Given the description of an element on the screen output the (x, y) to click on. 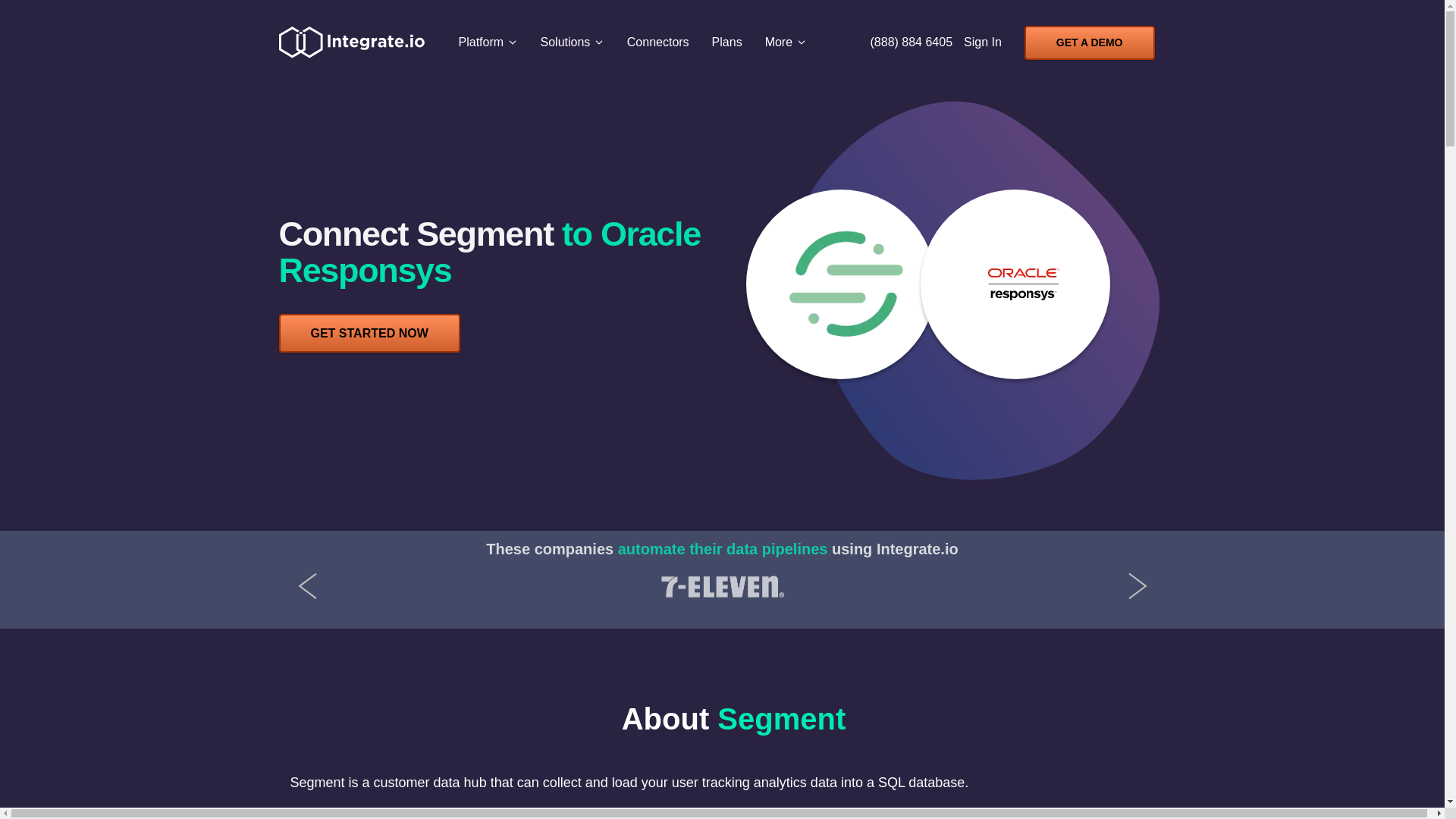
GET A DEMO (1089, 42)
Connectors (657, 42)
GET STARTED NOW (369, 332)
